Given the description of an element on the screen output the (x, y) to click on. 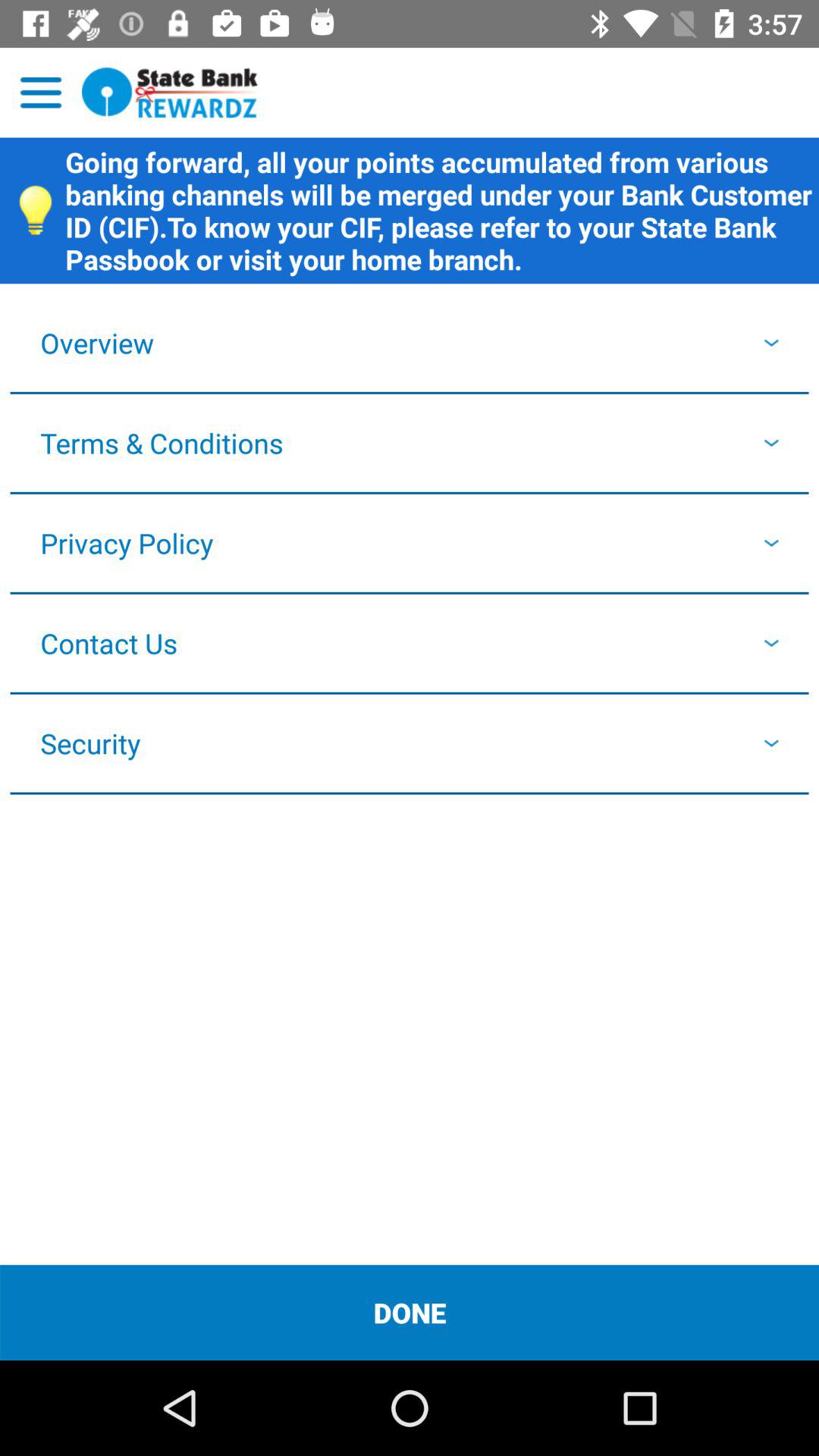
open state bank rewards program (169, 92)
